Given the description of an element on the screen output the (x, y) to click on. 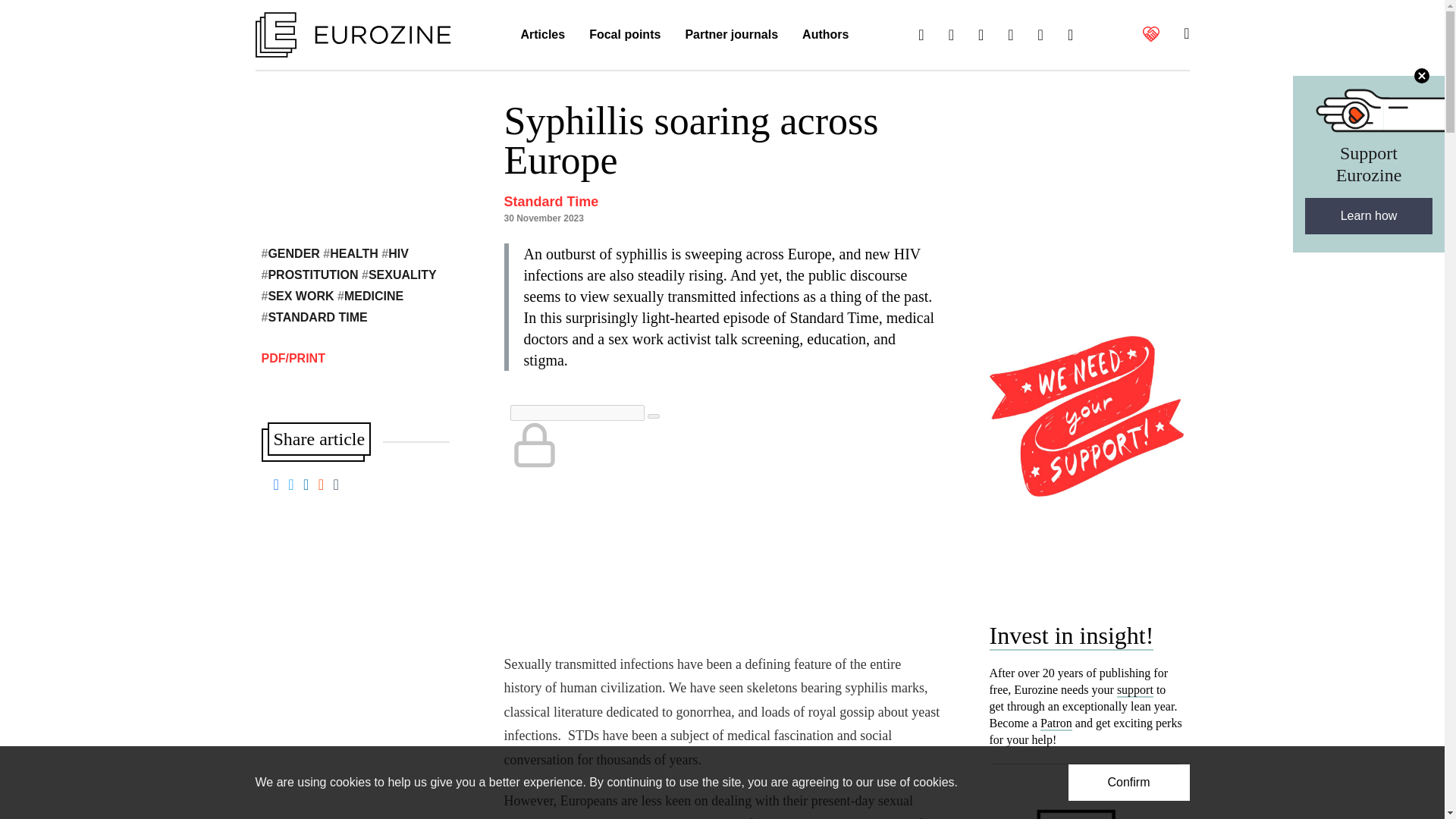
Authors (825, 34)
Articles (542, 34)
Confirm (1128, 782)
Learn how (1368, 216)
Partner journals (731, 34)
Focal points (624, 34)
